Given the description of an element on the screen output the (x, y) to click on. 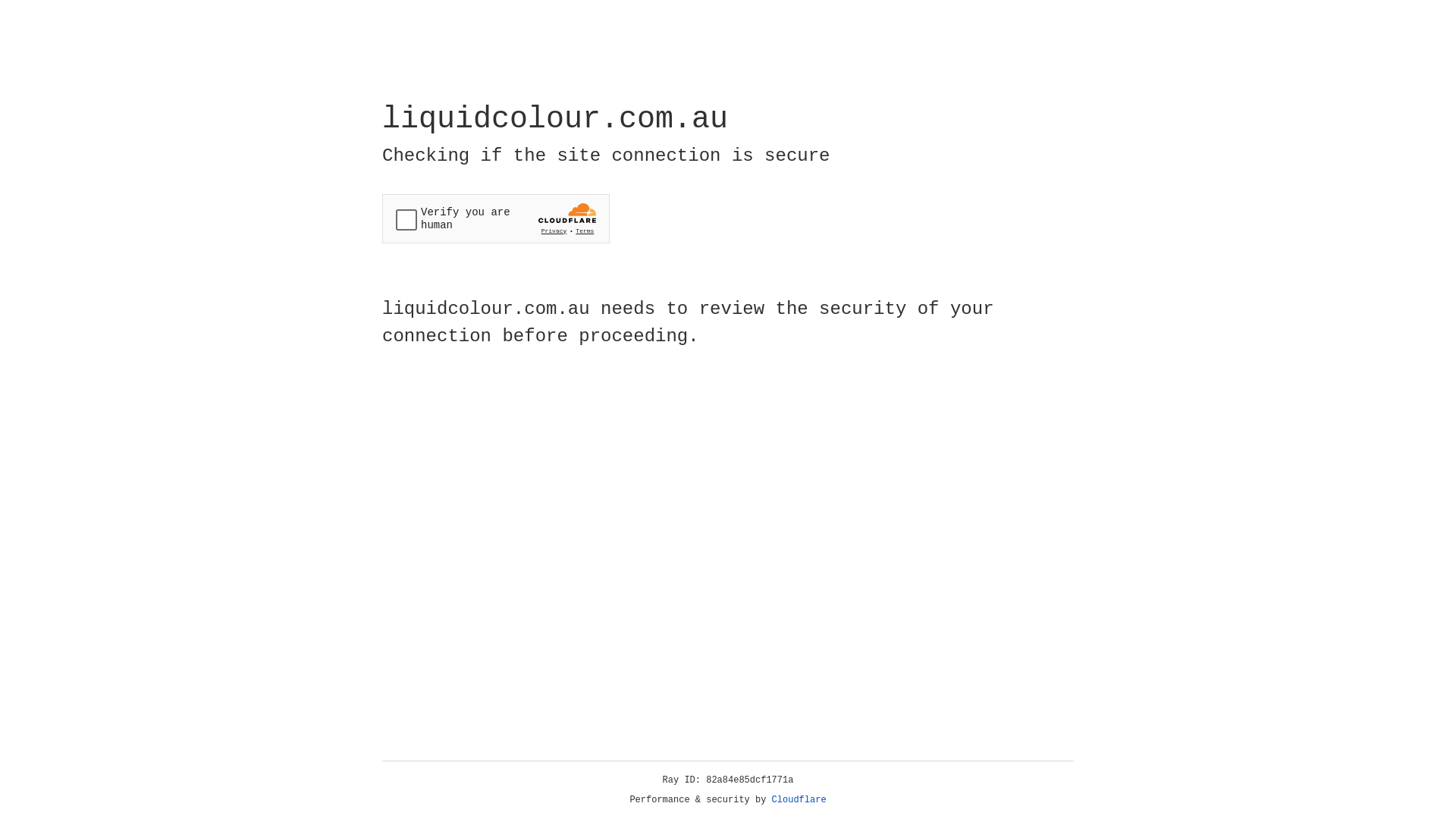
Cloudflare Element type: text (798, 799)
Widget containing a Cloudflare security challenge Element type: hover (495, 218)
